Given the description of an element on the screen output the (x, y) to click on. 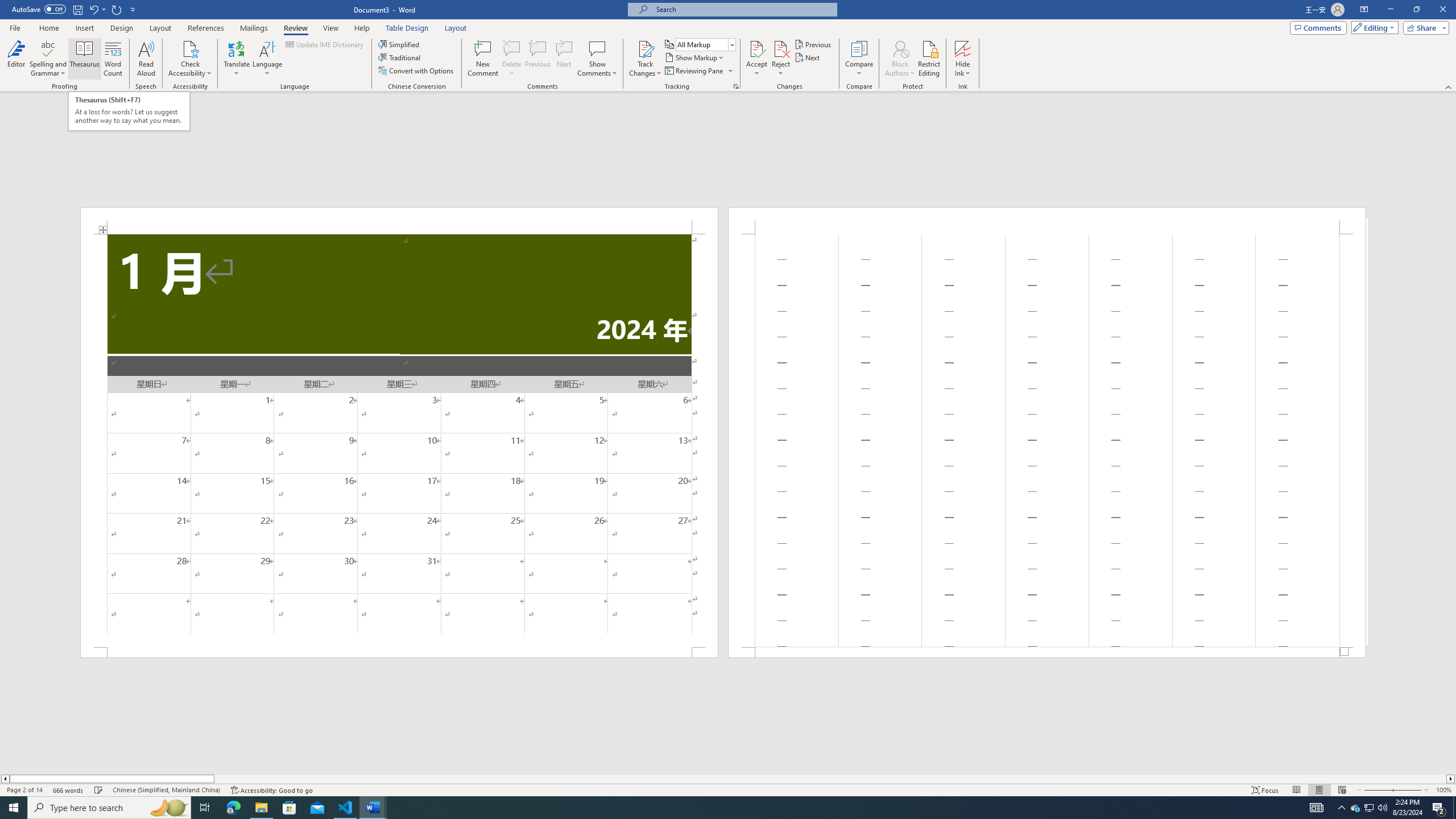
Accept (756, 58)
Simplified (400, 44)
Block Authors (900, 48)
Check Accessibility (189, 48)
Word Count (113, 58)
